Given the description of an element on the screen output the (x, y) to click on. 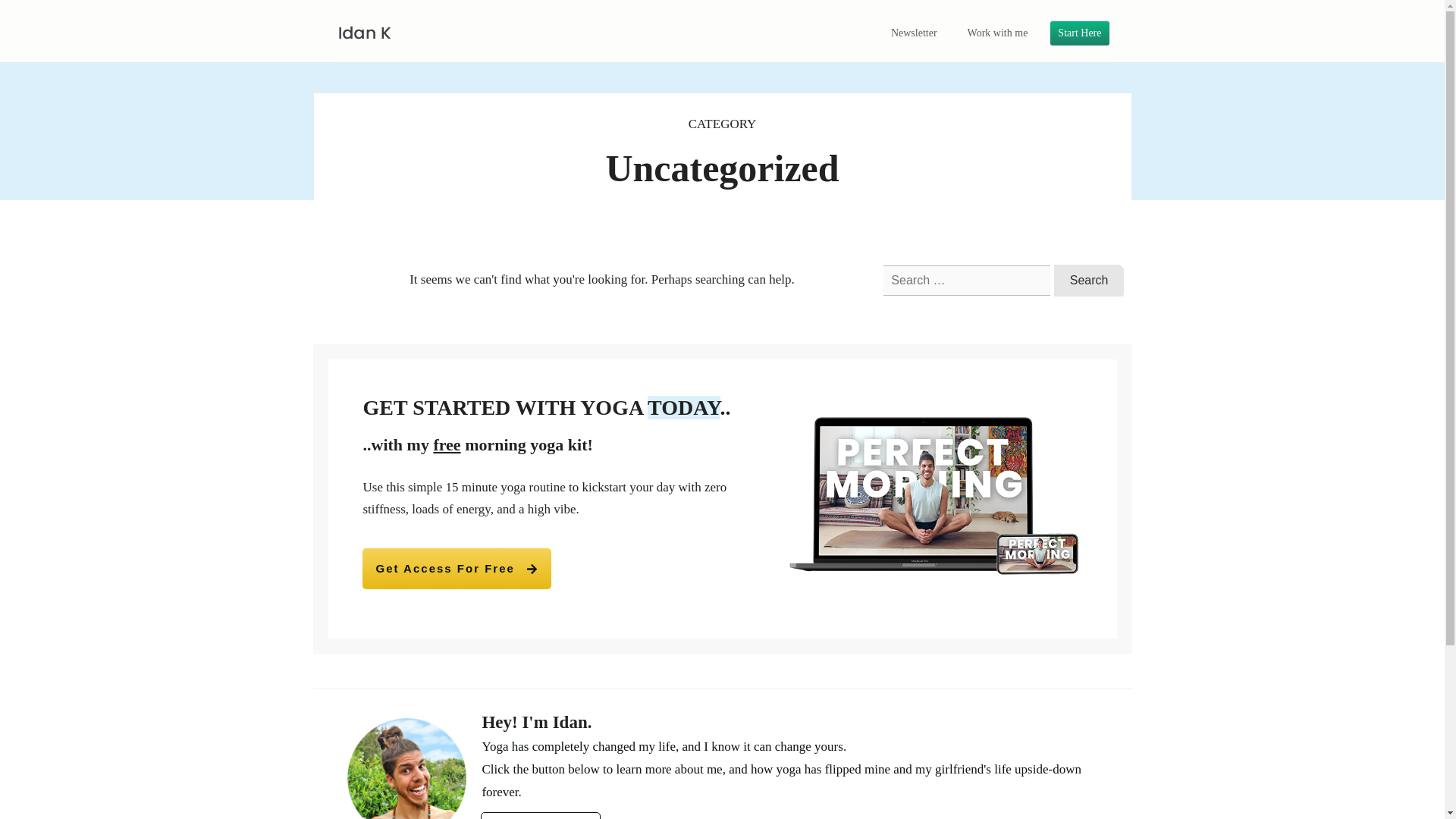
Newsletter (914, 33)
Search (1089, 280)
Read My Story (539, 815)
Get Access For Free (456, 567)
Search (1089, 280)
Search (1089, 280)
Work with me (997, 33)
Start Here (1079, 33)
idan-profile-image-trans-300px (407, 768)
